Given the description of an element on the screen output the (x, y) to click on. 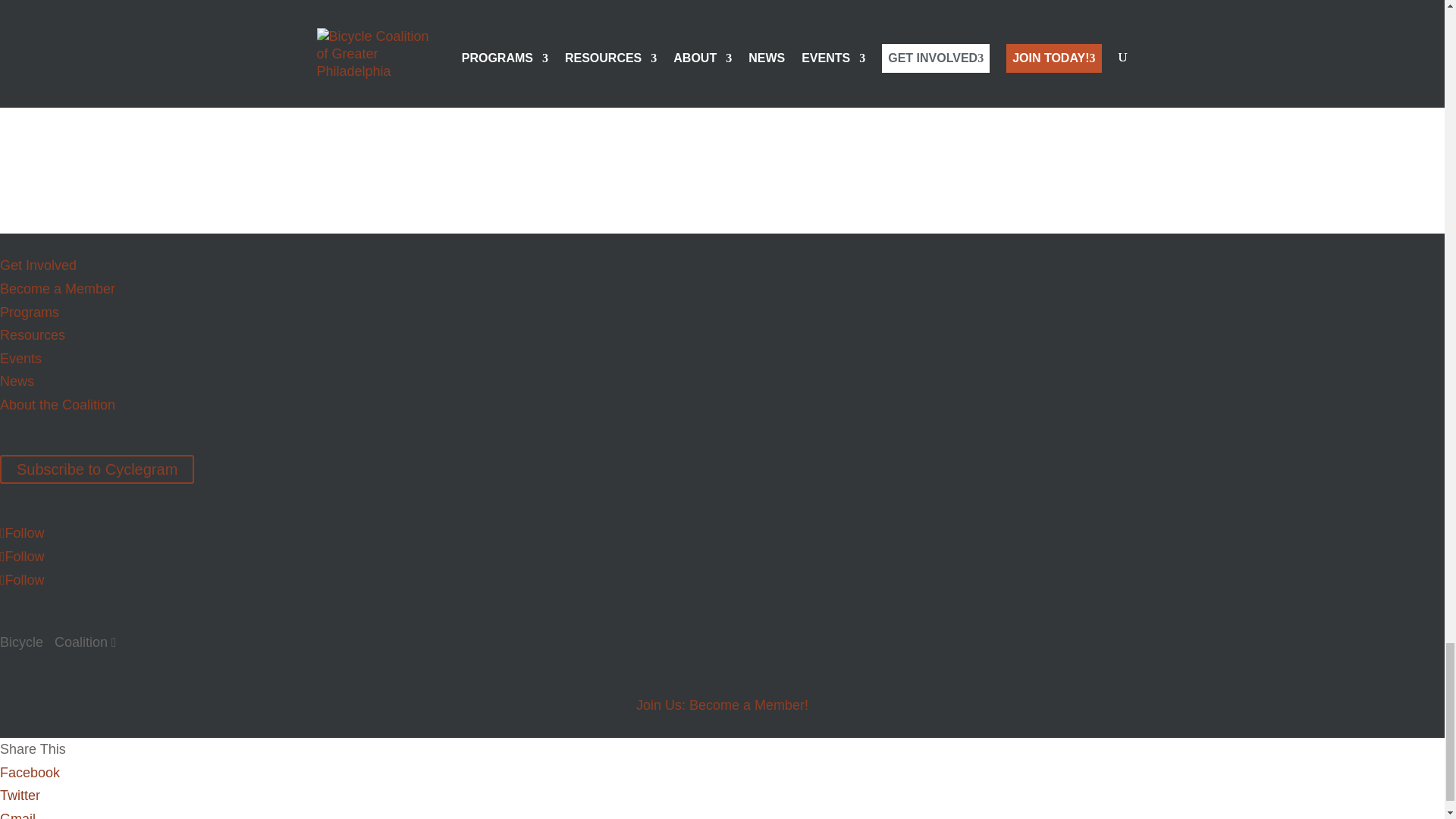
Follow on Instagram (22, 579)
Follow on X (22, 532)
Follow on Facebook (22, 556)
